Given the description of an element on the screen output the (x, y) to click on. 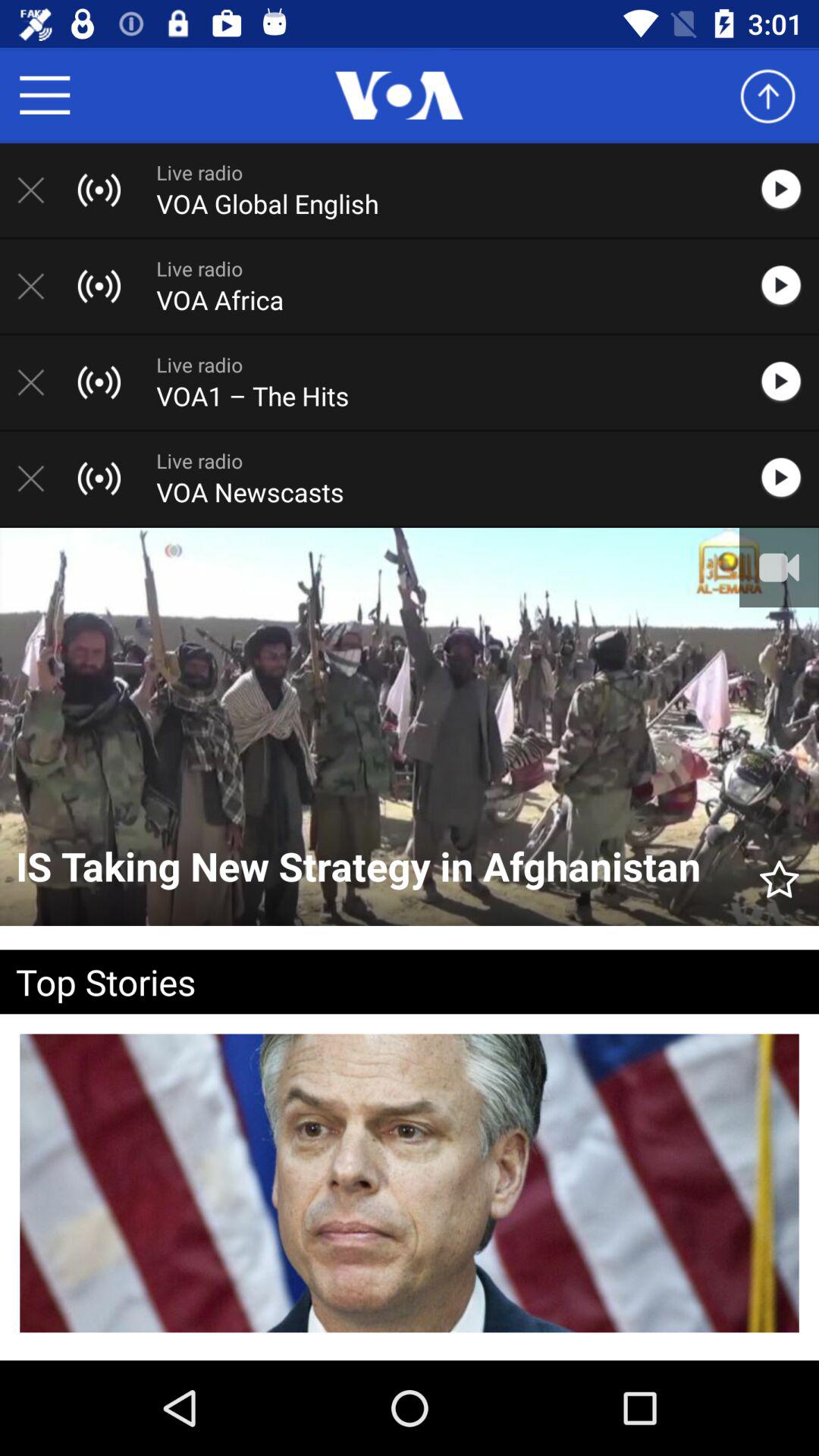
play video (789, 381)
